Given the description of an element on the screen output the (x, y) to click on. 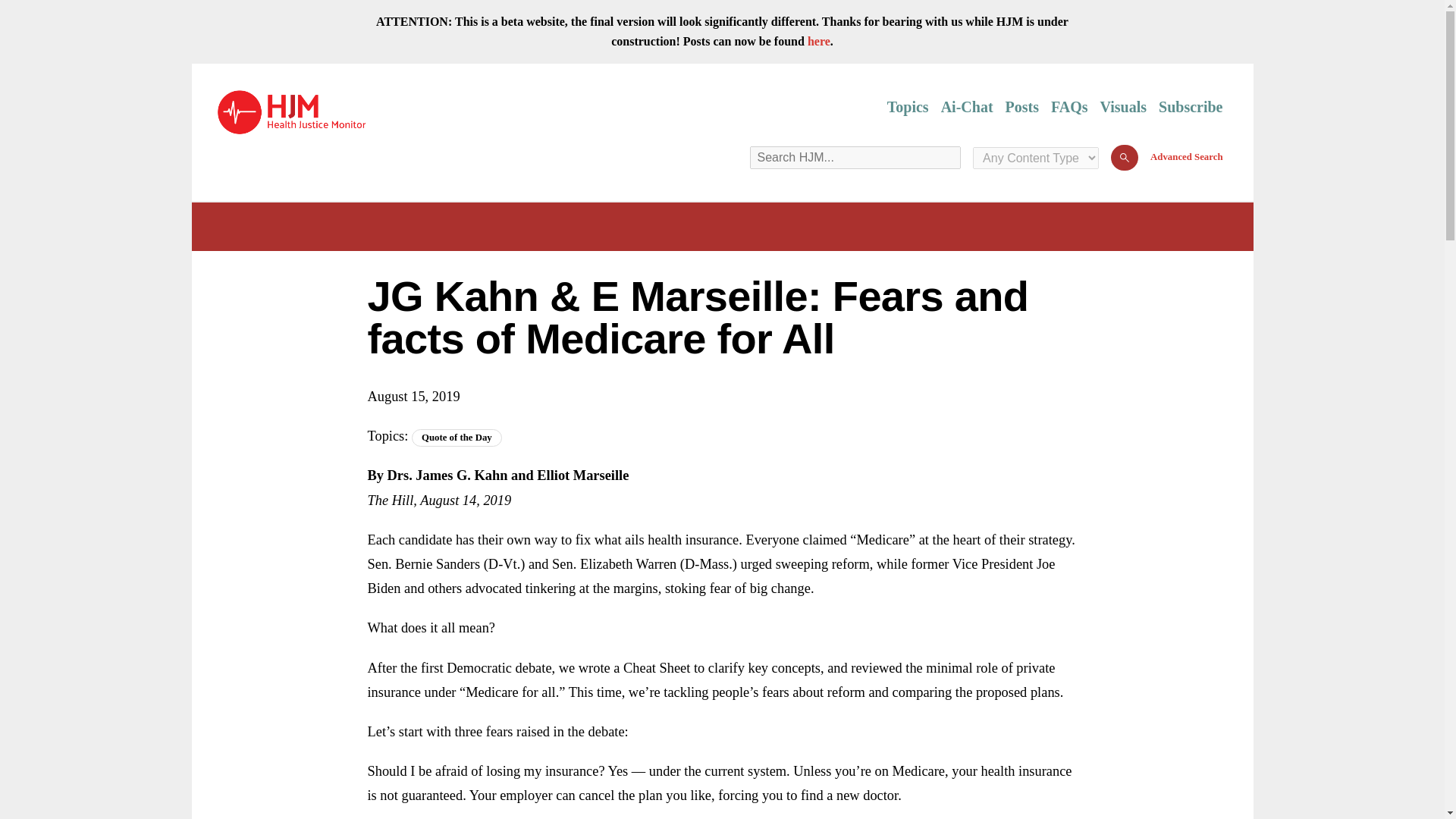
Quote of the Day (457, 437)
FAQs (1069, 107)
Subscribe (1190, 107)
Topic within  (457, 437)
Advanced Search (1186, 156)
Posts (1022, 107)
Topics (907, 107)
here (818, 41)
Visuals (1123, 107)
Ai-Chat (966, 107)
